Given the description of an element on the screen output the (x, y) to click on. 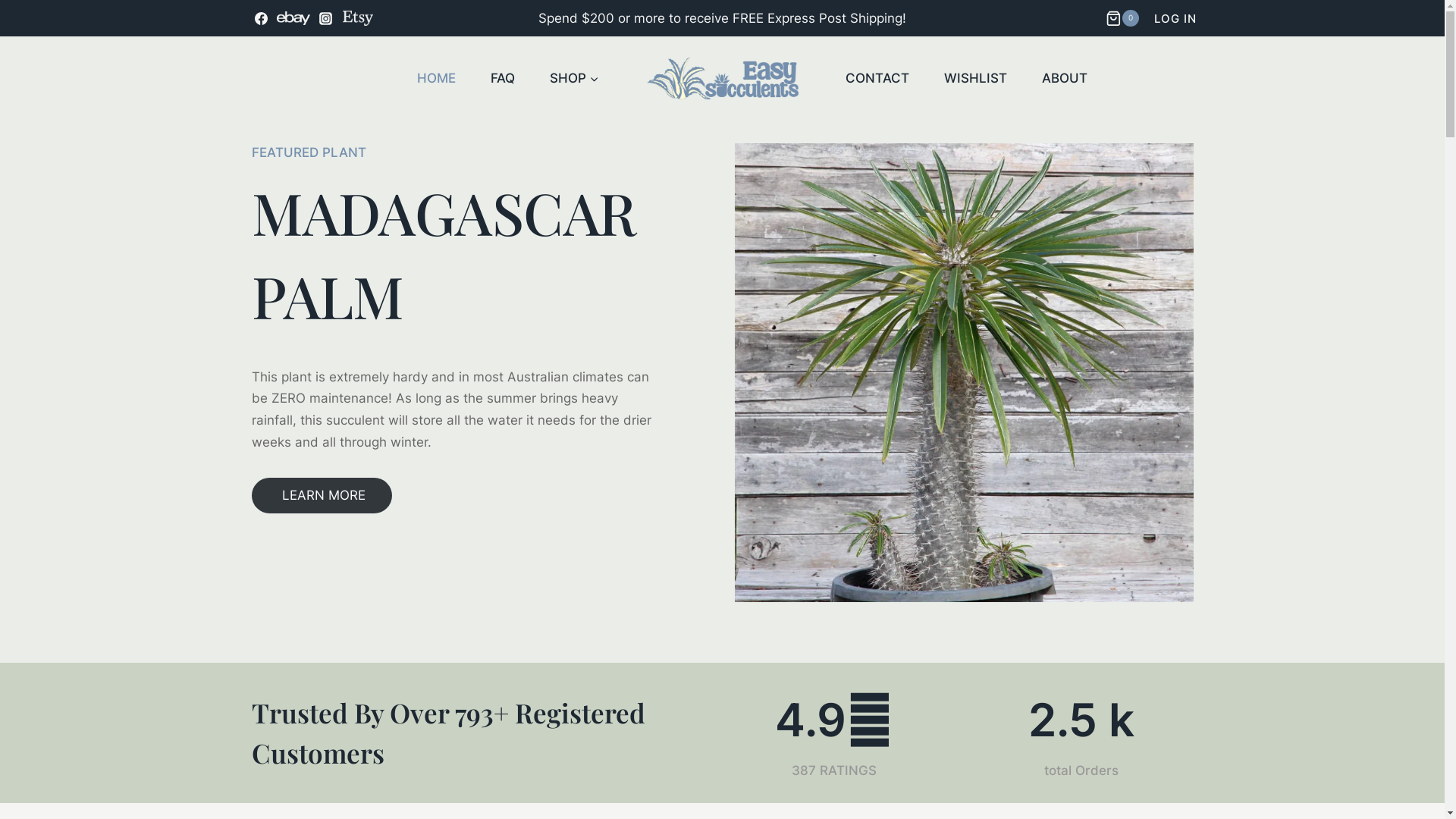
CONTACT Element type: text (877, 77)
WISHLIST Element type: text (975, 77)
LEARN MORE Element type: text (321, 495)
FAQ Element type: text (502, 77)
0 Element type: text (1123, 17)
SHOP Element type: text (574, 77)
LOG IN Element type: text (1175, 18)
HOME Element type: text (436, 77)
ABOUT Element type: text (1064, 77)
